Given the description of an element on the screen output the (x, y) to click on. 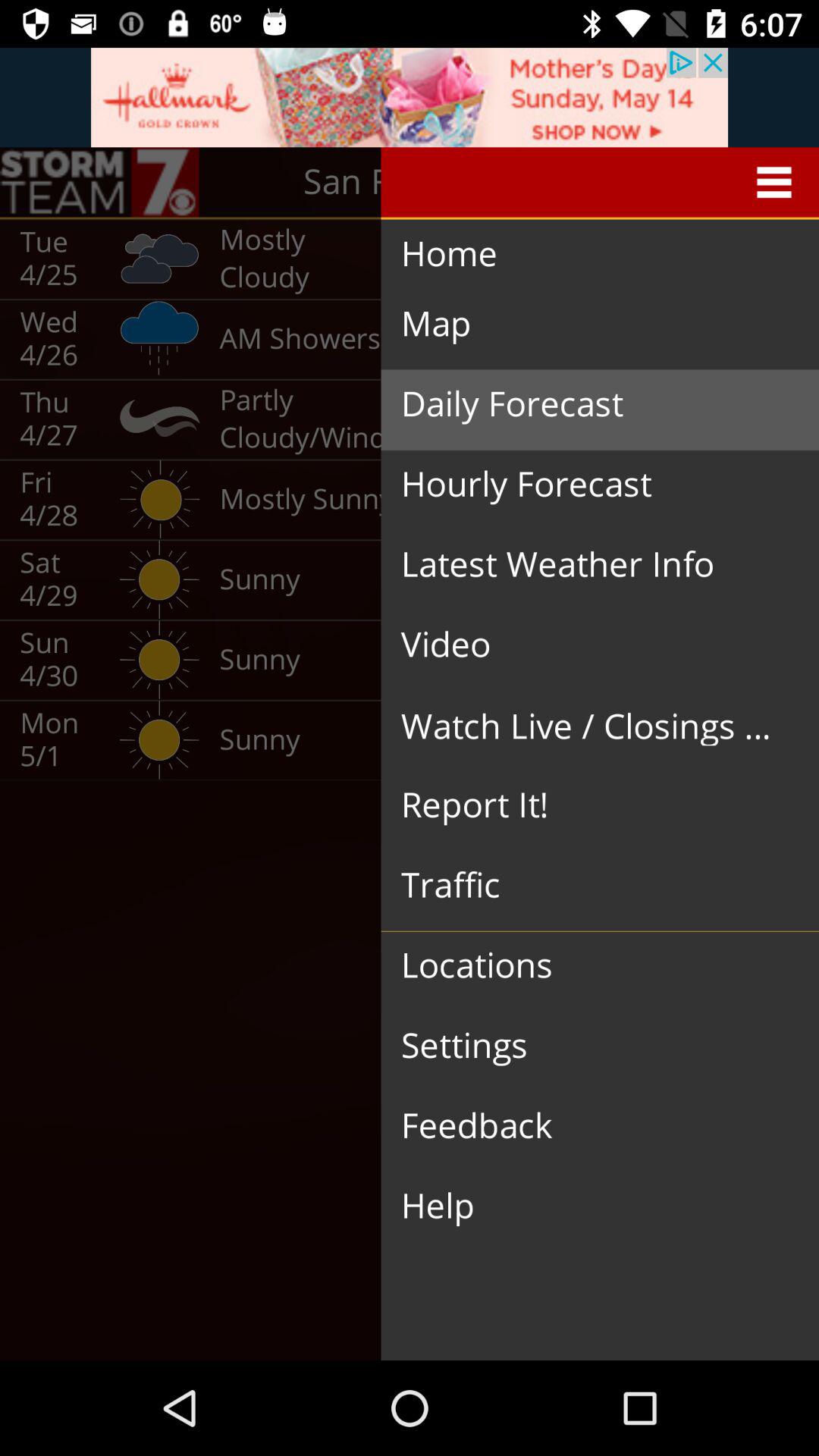
choose the item next to am showers (587, 404)
